Given the description of an element on the screen output the (x, y) to click on. 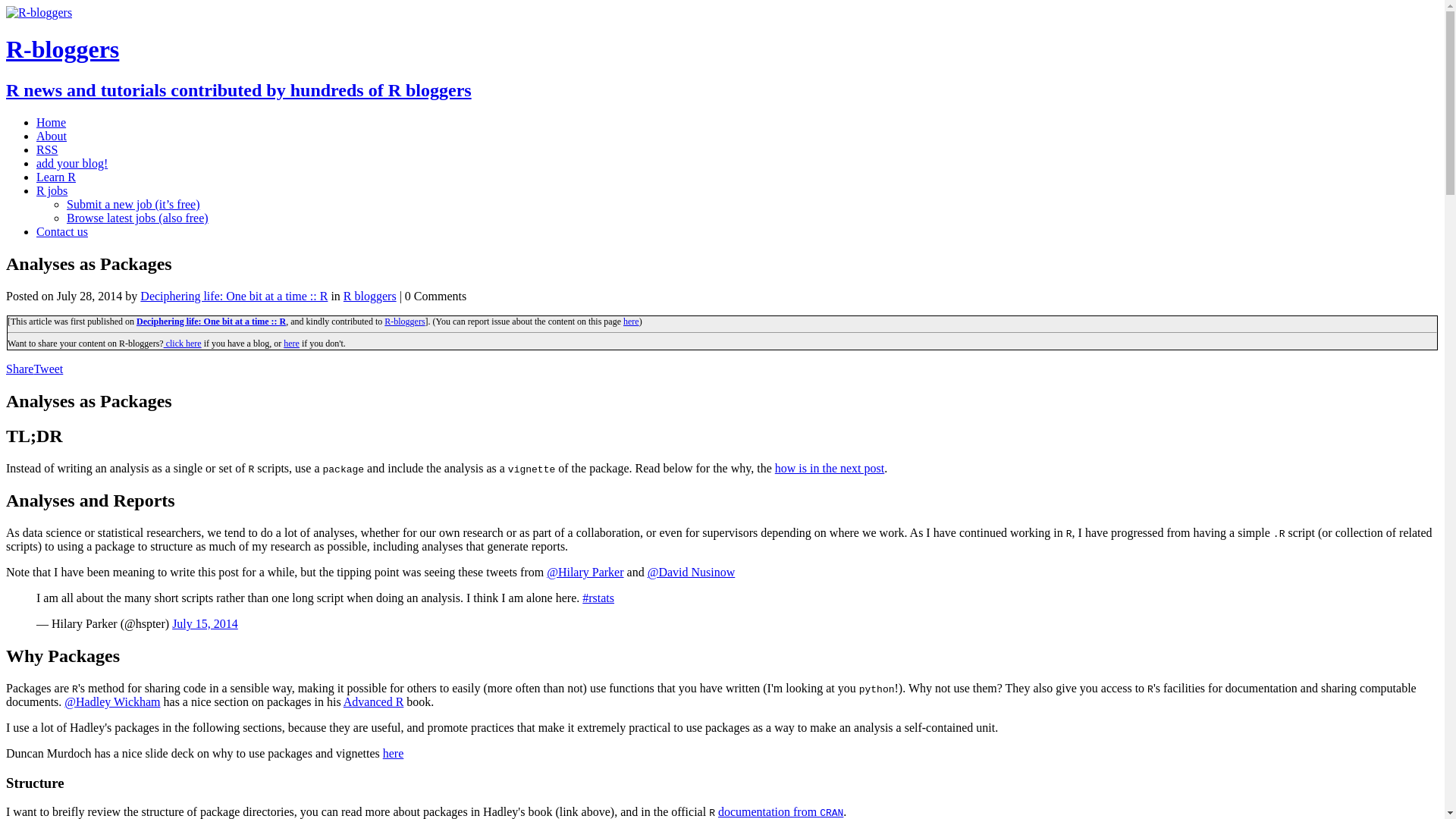
add your blog! (71, 163)
here (631, 321)
RSS (47, 149)
Tweet (47, 368)
Advanced R (373, 701)
July 15, 2014 (204, 623)
how is in the next post (828, 468)
here (393, 753)
About (51, 135)
Deciphering life: One bit at a time :: R (210, 321)
Learn R (55, 176)
documentation from CRAN (780, 811)
Deciphering life: One bit at a time :: R (233, 295)
R-bloggers (404, 321)
Contact us (61, 231)
